Given the description of an element on the screen output the (x, y) to click on. 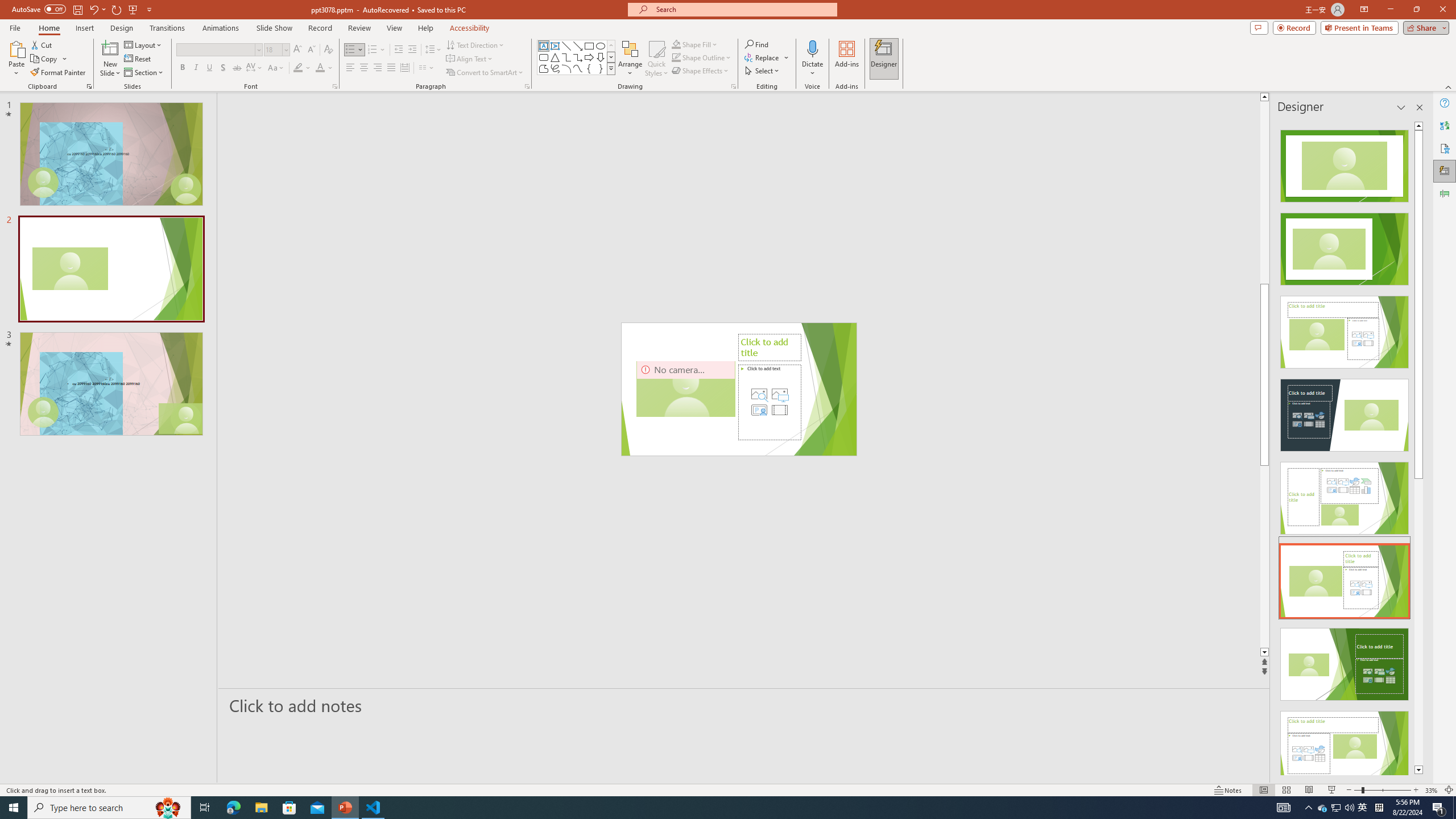
Recommended Design: Design Idea (1344, 162)
Content Placeholder (769, 402)
